Given the description of an element on the screen output the (x, y) to click on. 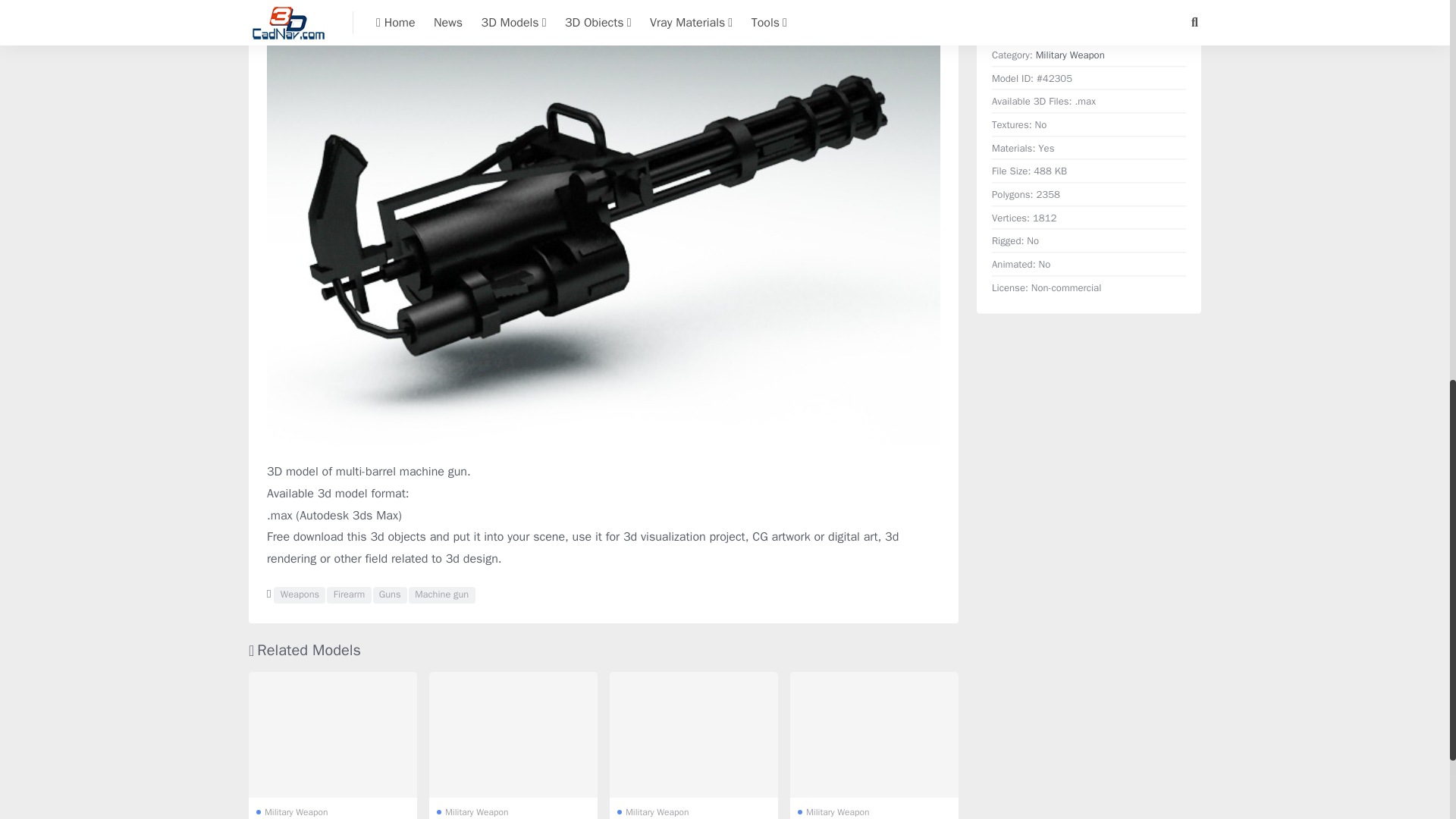
BRDM-3 armoured fighting vehicl 3d model download (693, 734)
download Gatling Gun 3d model (1088, 2)
Guns 3d model (389, 595)
U.S.army HMMWV 3d model download (874, 734)
Machine gun 3d model (442, 595)
Mini-14 Sniper Rifle 3d model download (332, 734)
Weapons 3d model (298, 595)
Golden Minigun 3d model download (512, 734)
Firearm 3d model (348, 595)
